Given the description of an element on the screen output the (x, y) to click on. 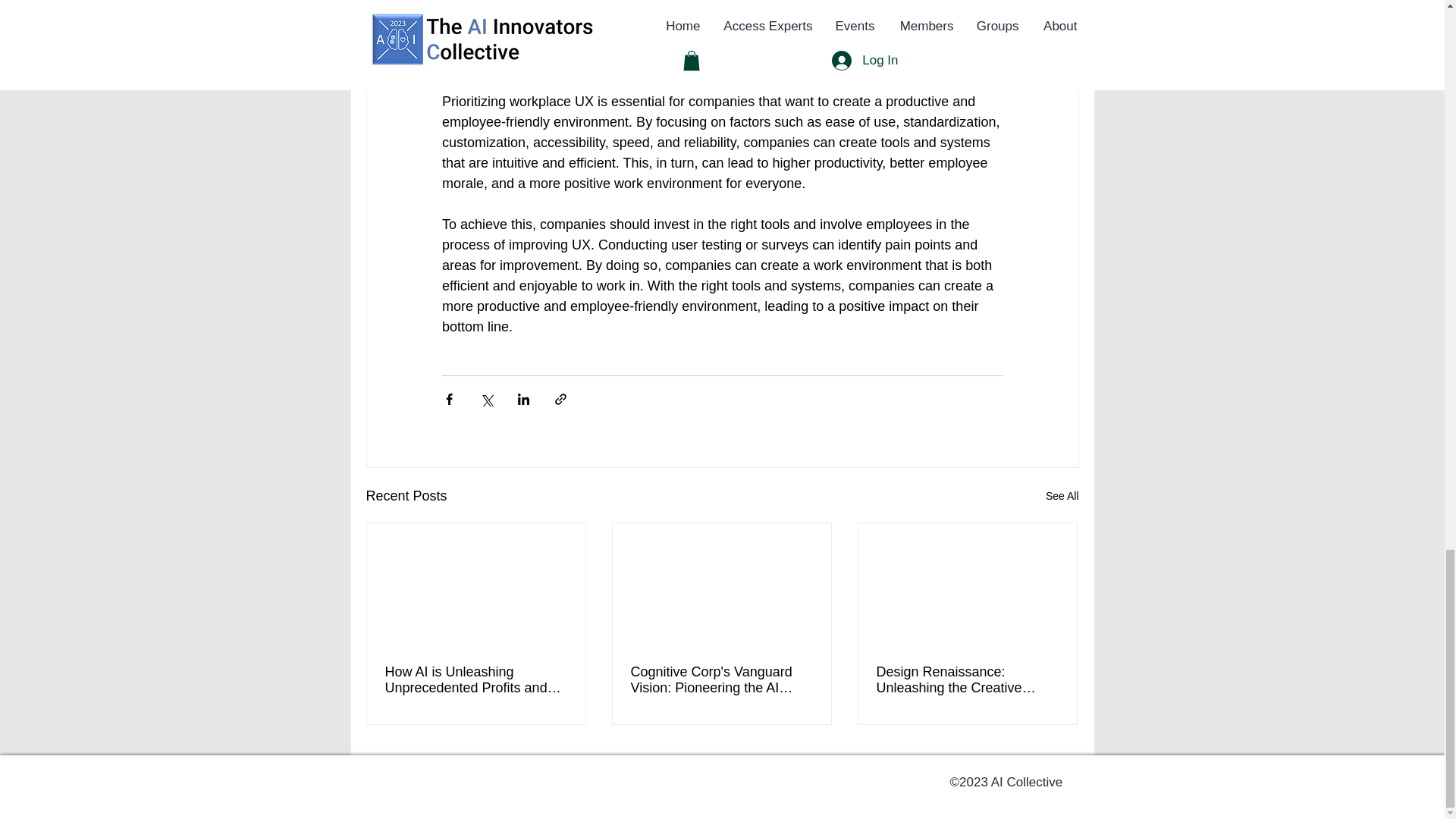
See All (1061, 495)
